Given the description of an element on the screen output the (x, y) to click on. 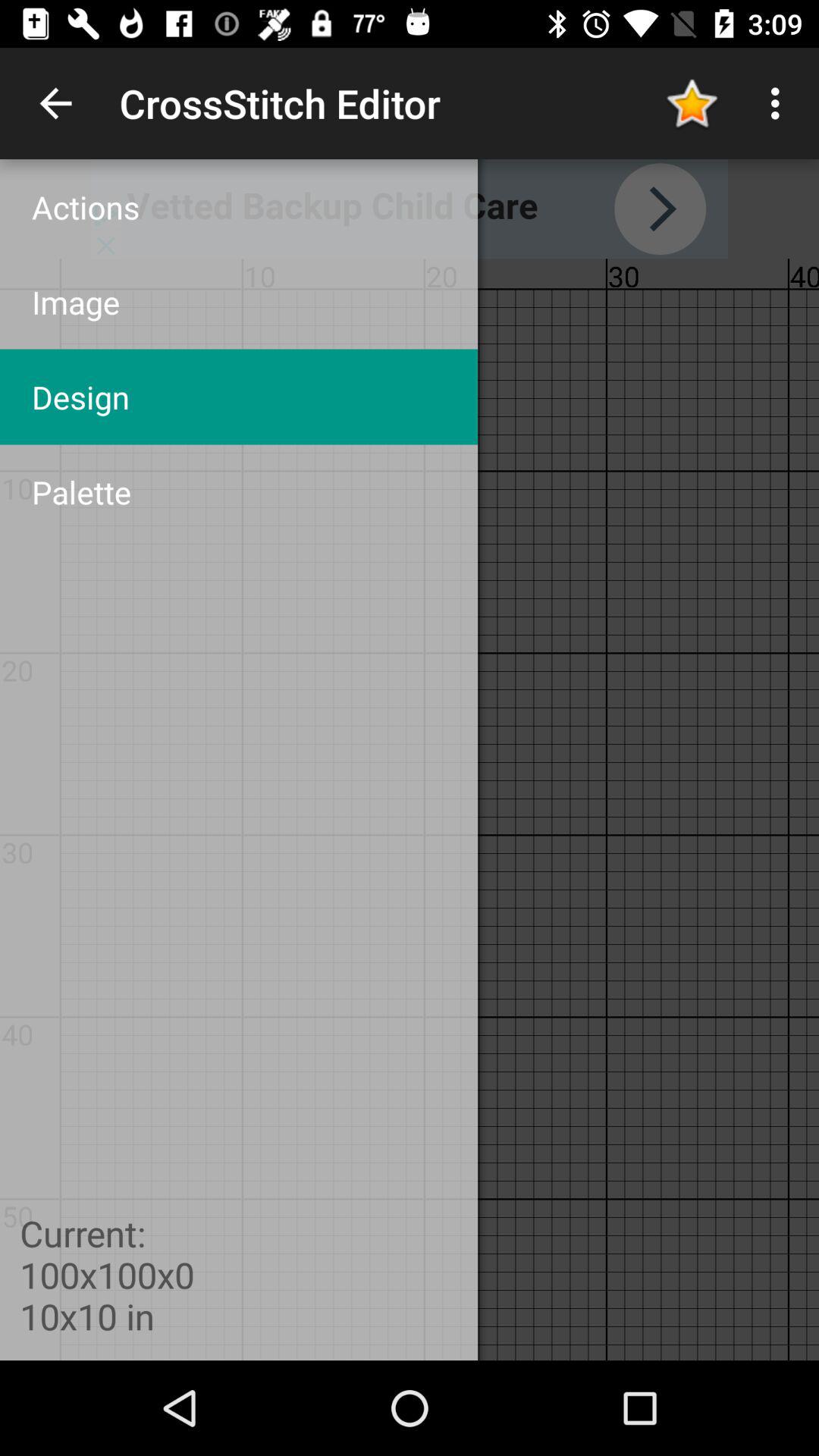
action more (409, 208)
